Given the description of an element on the screen output the (x, y) to click on. 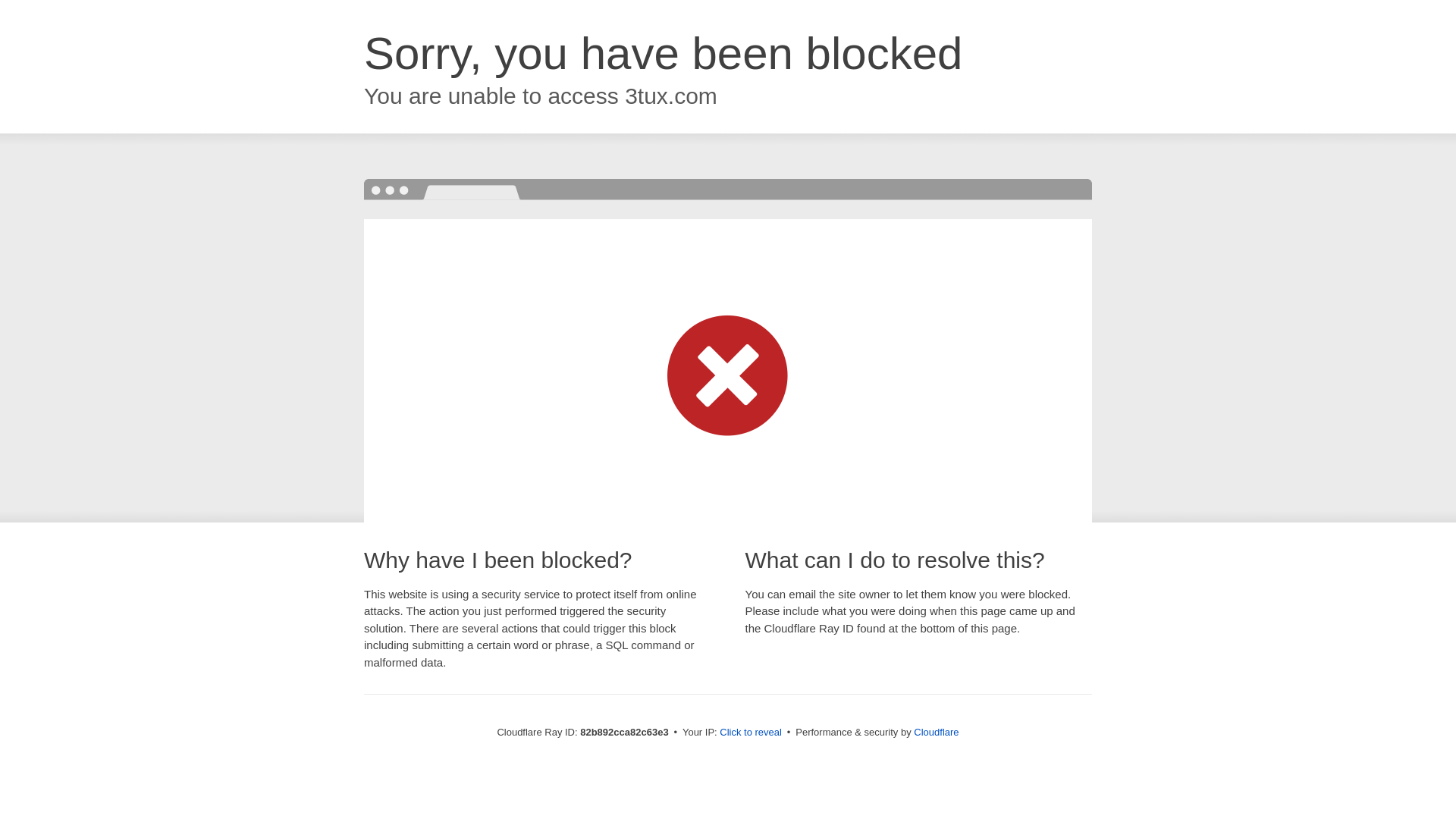
Cloudflare Element type: text (935, 731)
Click to reveal Element type: text (750, 732)
